Given the description of an element on the screen output the (x, y) to click on. 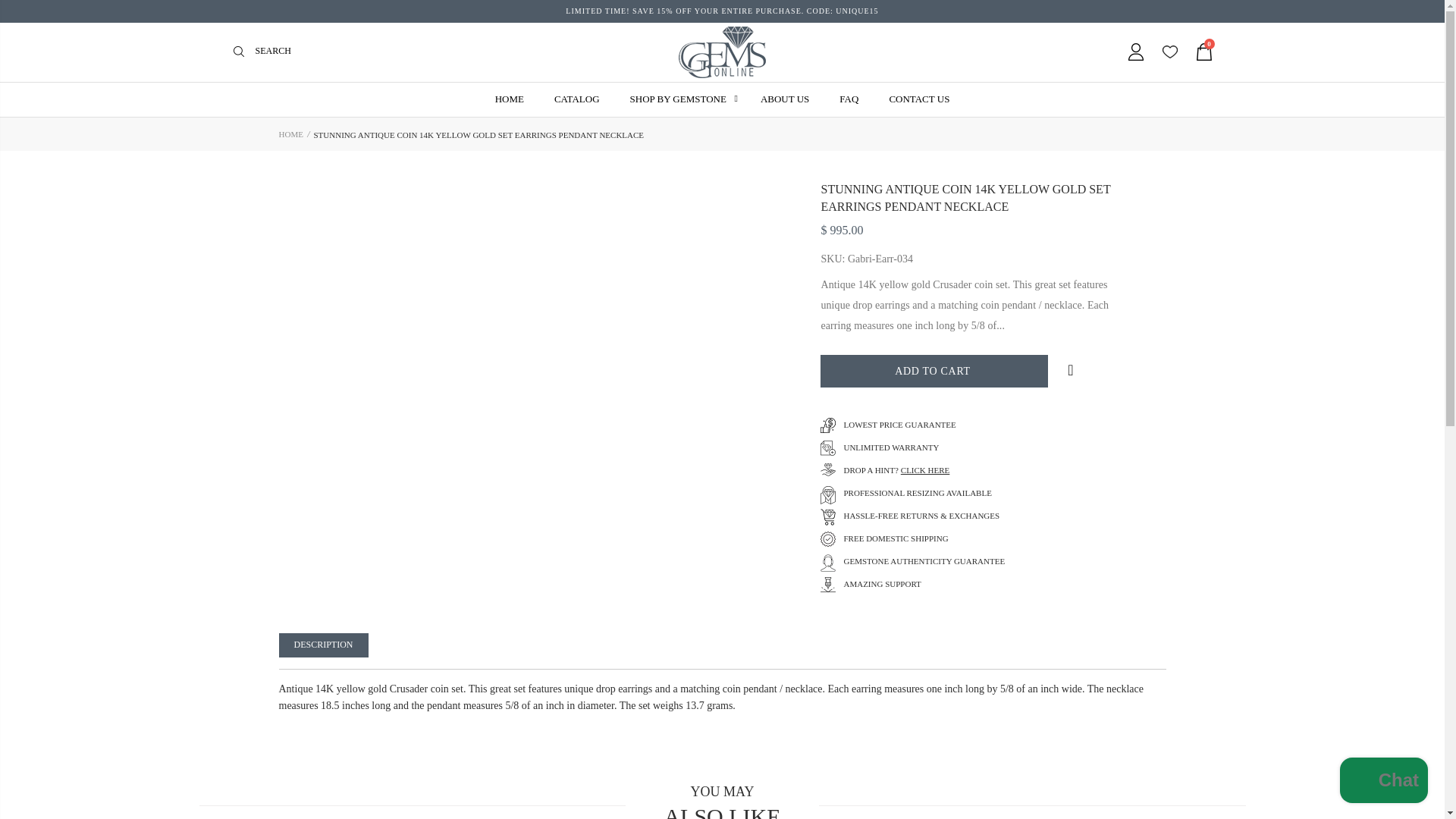
SEARCH (241, 51)
Add to wishlist (1070, 370)
Back to the frontpage (290, 134)
